Given the description of an element on the screen output the (x, y) to click on. 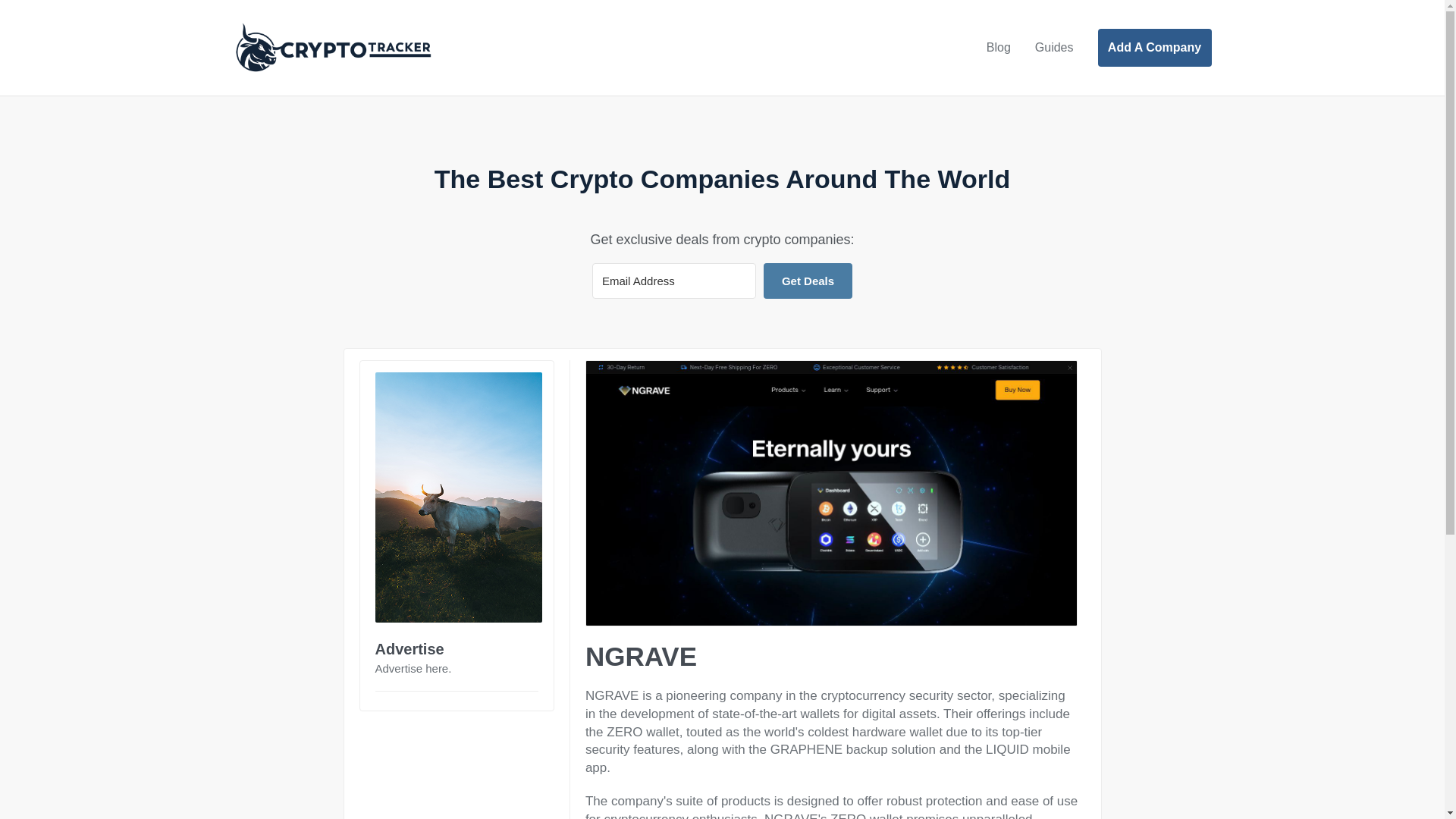
Blog (998, 47)
Get Deals (806, 280)
Add A Company (1154, 47)
Guides (1054, 47)
Advertise (409, 648)
